Given the description of an element on the screen output the (x, y) to click on. 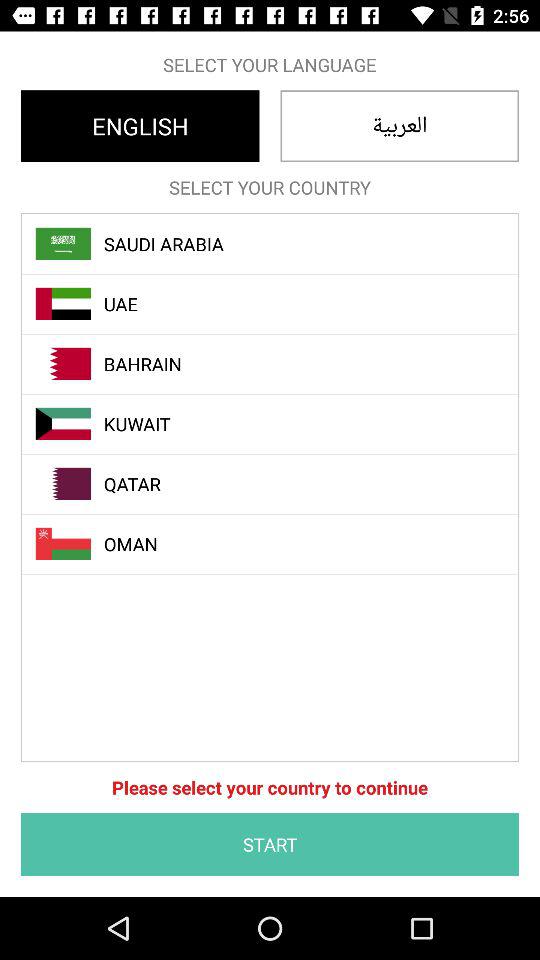
open kuwait item (281, 423)
